Given the description of an element on the screen output the (x, y) to click on. 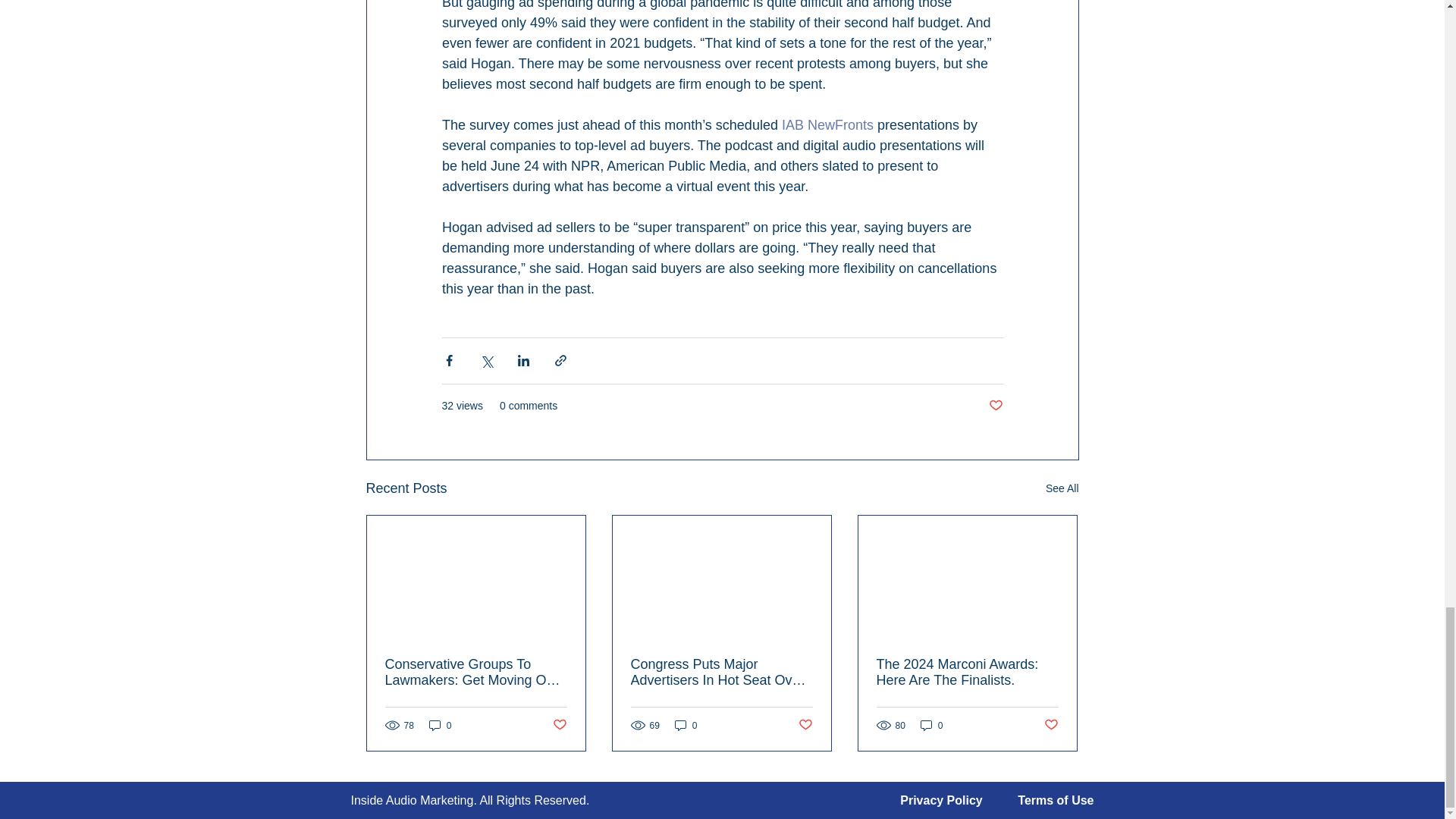
Post not marked as liked (558, 725)
Inside Audio Marketing. All Rights Reserved. (469, 799)
The 2024 Marconi Awards: Here Are The Finalists. (967, 672)
0 (685, 725)
0 (440, 725)
Privacy Policy (940, 799)
See All (1061, 488)
IAB NewFronts (826, 124)
Post not marked as liked (1050, 725)
0 (931, 725)
Post not marked as liked (804, 725)
Terms of Use (1055, 799)
Post not marked as liked (995, 406)
